Given the description of an element on the screen output the (x, y) to click on. 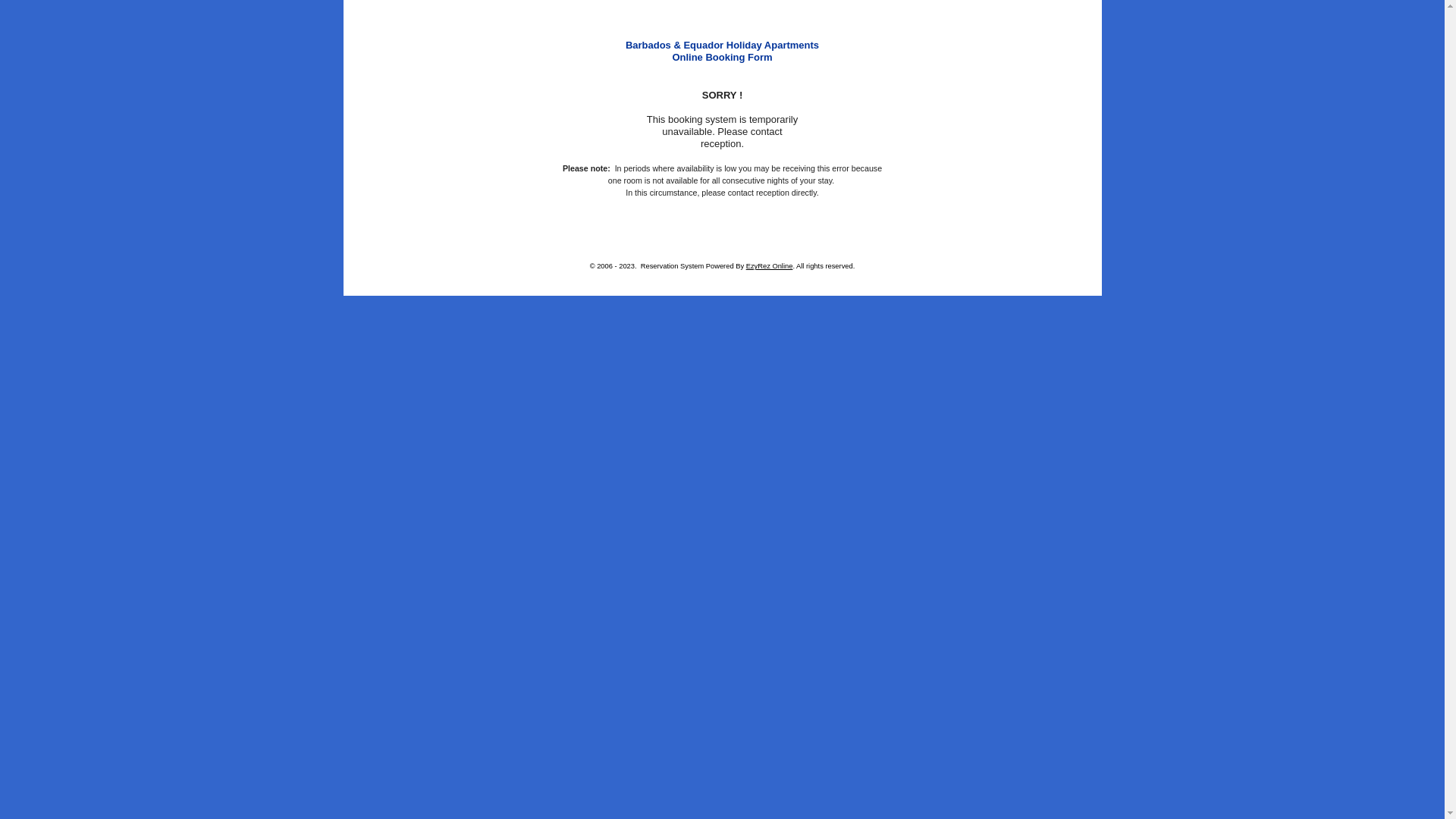
EzyRez Online Element type: text (769, 265)
